Given the description of an element on the screen output the (x, y) to click on. 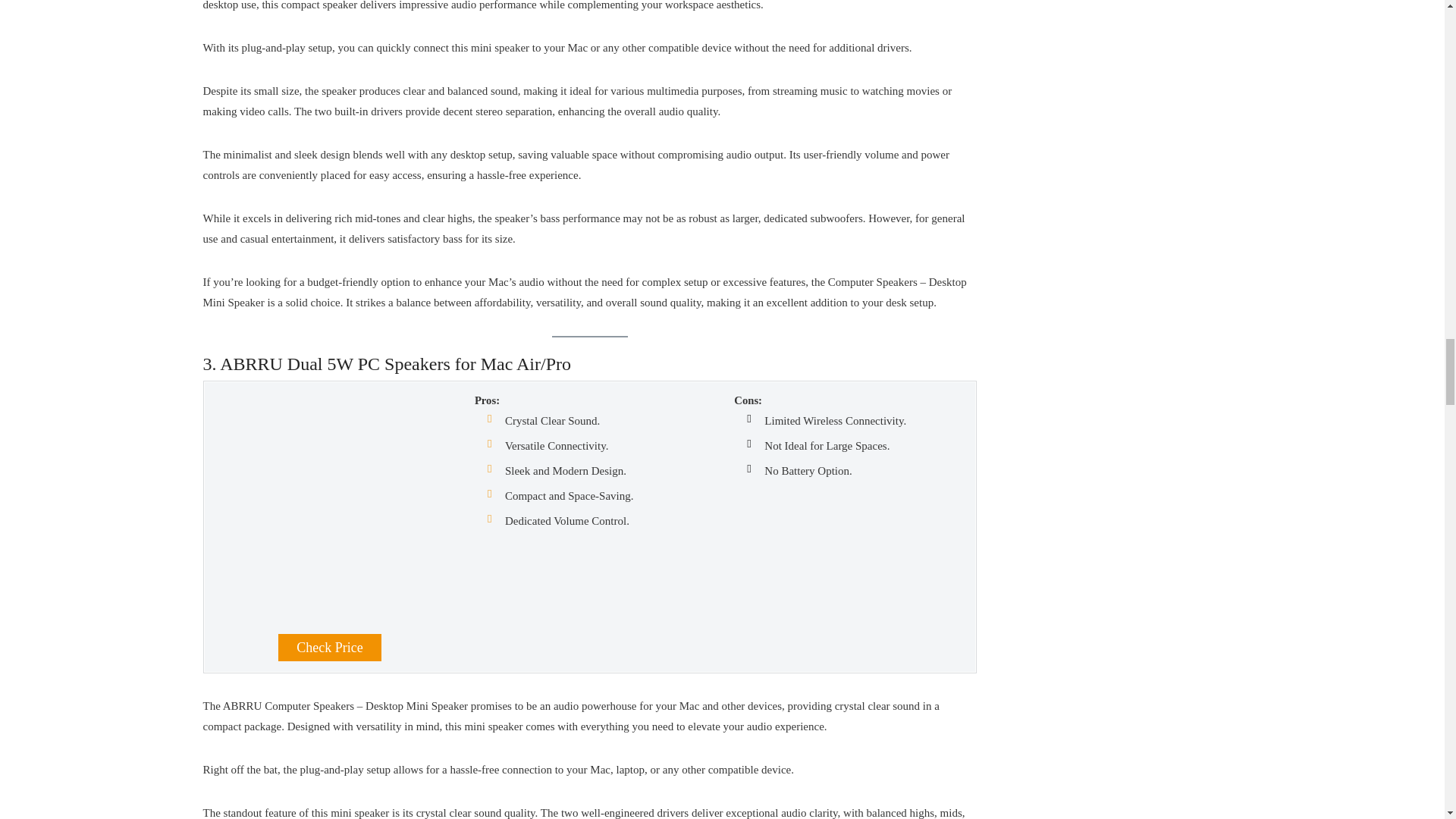
Check Amazon Price (329, 646)
